Given the description of an element on the screen output the (x, y) to click on. 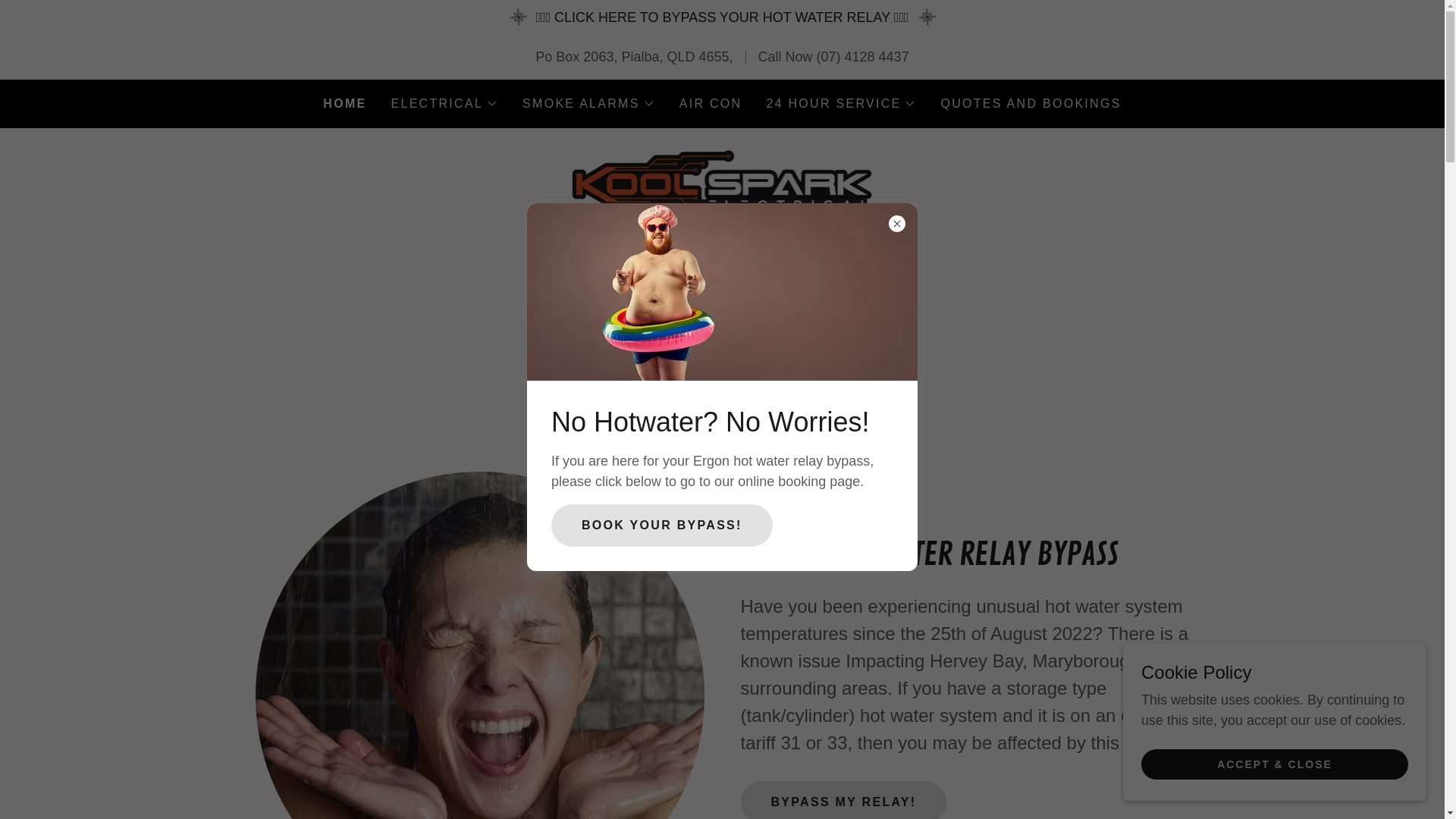
AIR CON Element type: text (710, 103)
ELECTRICAL Element type: text (444, 103)
(07) 4128 4437 Element type: text (862, 56)
HOME Element type: text (344, 103)
mm Element type: hover (722, 189)
QUOTES AND BOOKINGS Element type: text (1030, 103)
SMOKE ALARMS Element type: text (588, 103)
BOOK YOUR BYPASS! Element type: text (661, 524)
BOOK NOW Element type: text (722, 389)
ACCEPT & CLOSE Element type: text (1274, 764)
24 HOUR SERVICE Element type: text (840, 103)
